Given the description of an element on the screen output the (x, y) to click on. 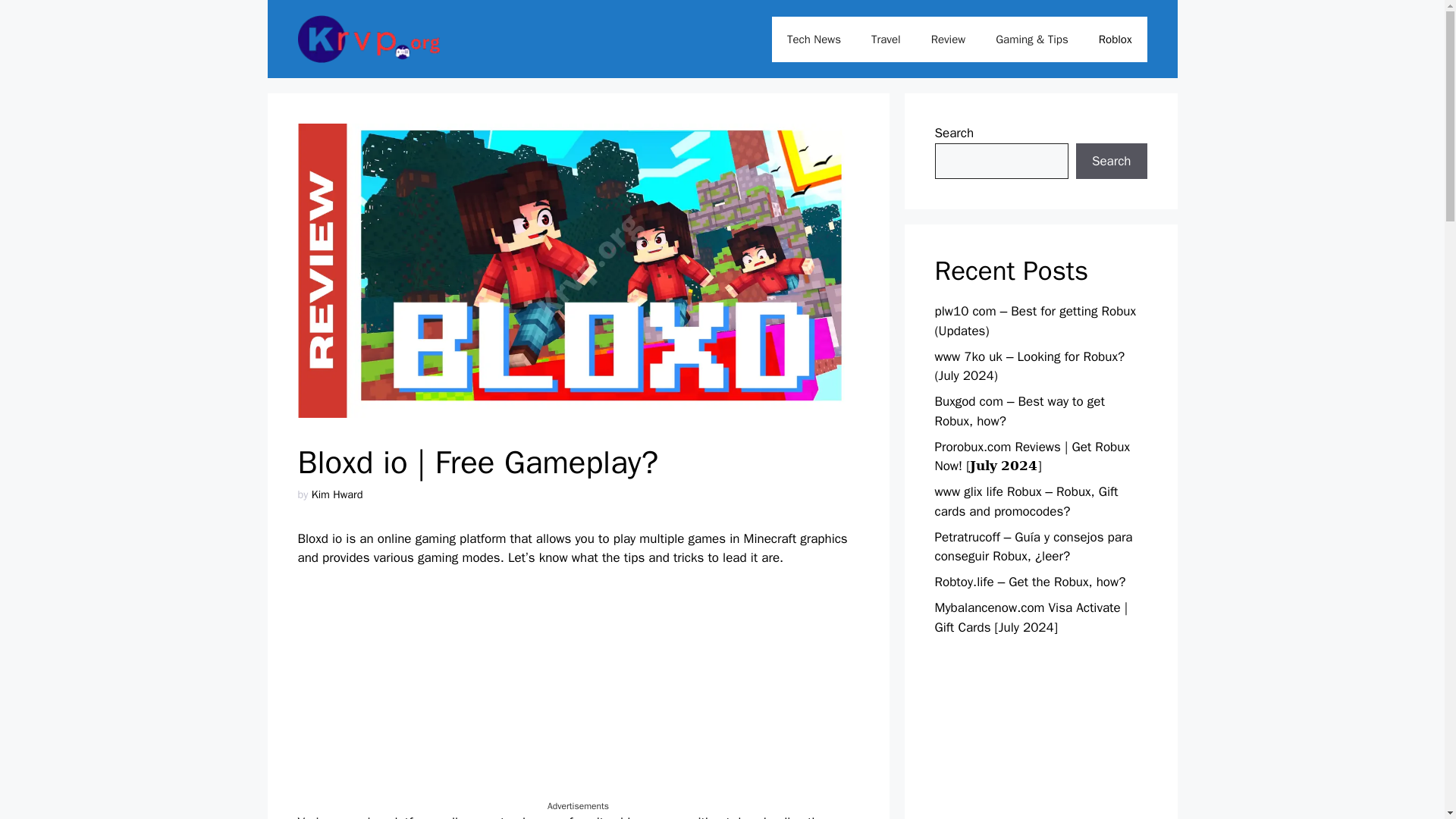
Travel (885, 39)
Search (1111, 161)
Tech News (813, 39)
Kim Hward (336, 494)
Roblox (1115, 39)
Advertisement (578, 693)
gaming (434, 538)
View all posts by Kim Hward (336, 494)
Review (948, 39)
